Given the description of an element on the screen output the (x, y) to click on. 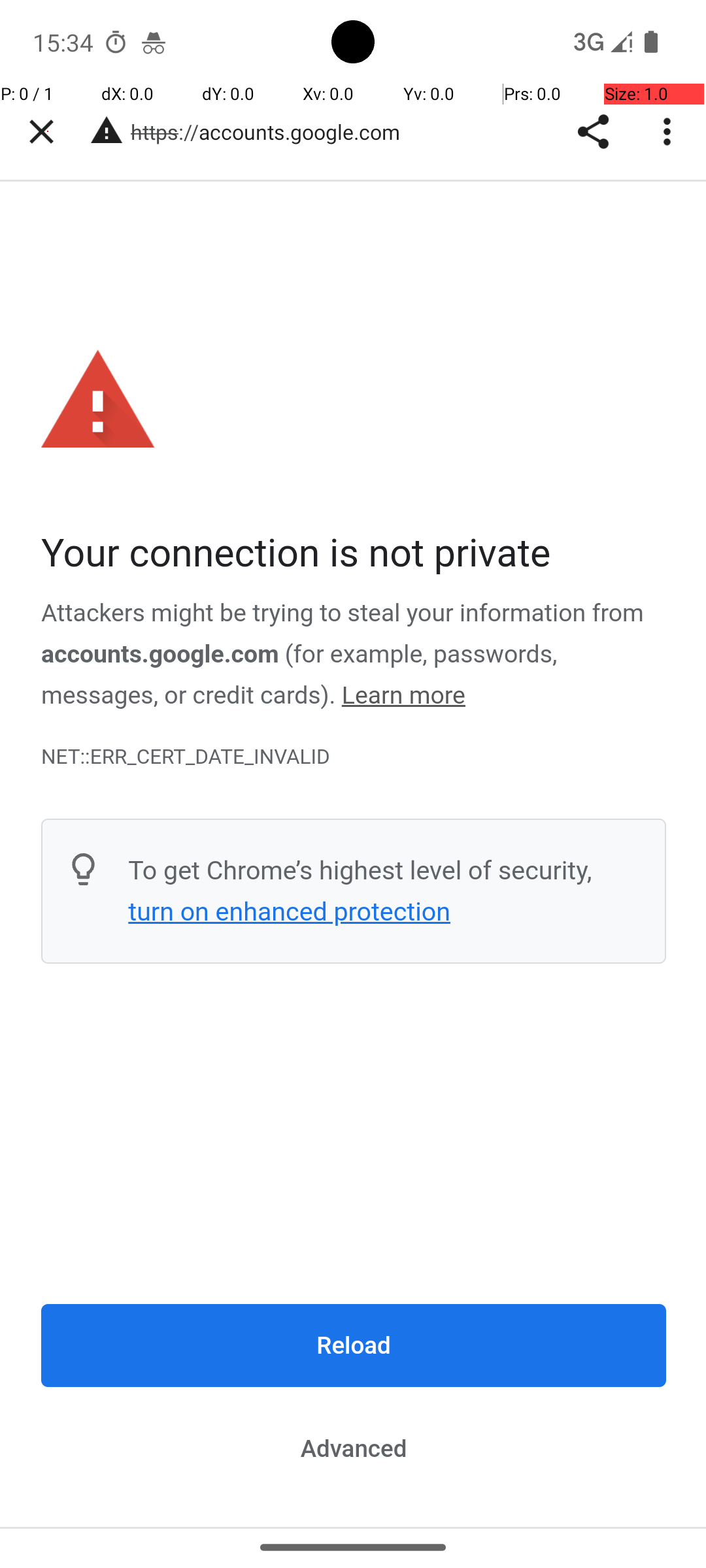
https://accounts.google.com Element type: android.widget.TextView (271, 131)
accounts.google.com Element type: android.widget.TextView (160, 653)
